Given the description of an element on the screen output the (x, y) to click on. 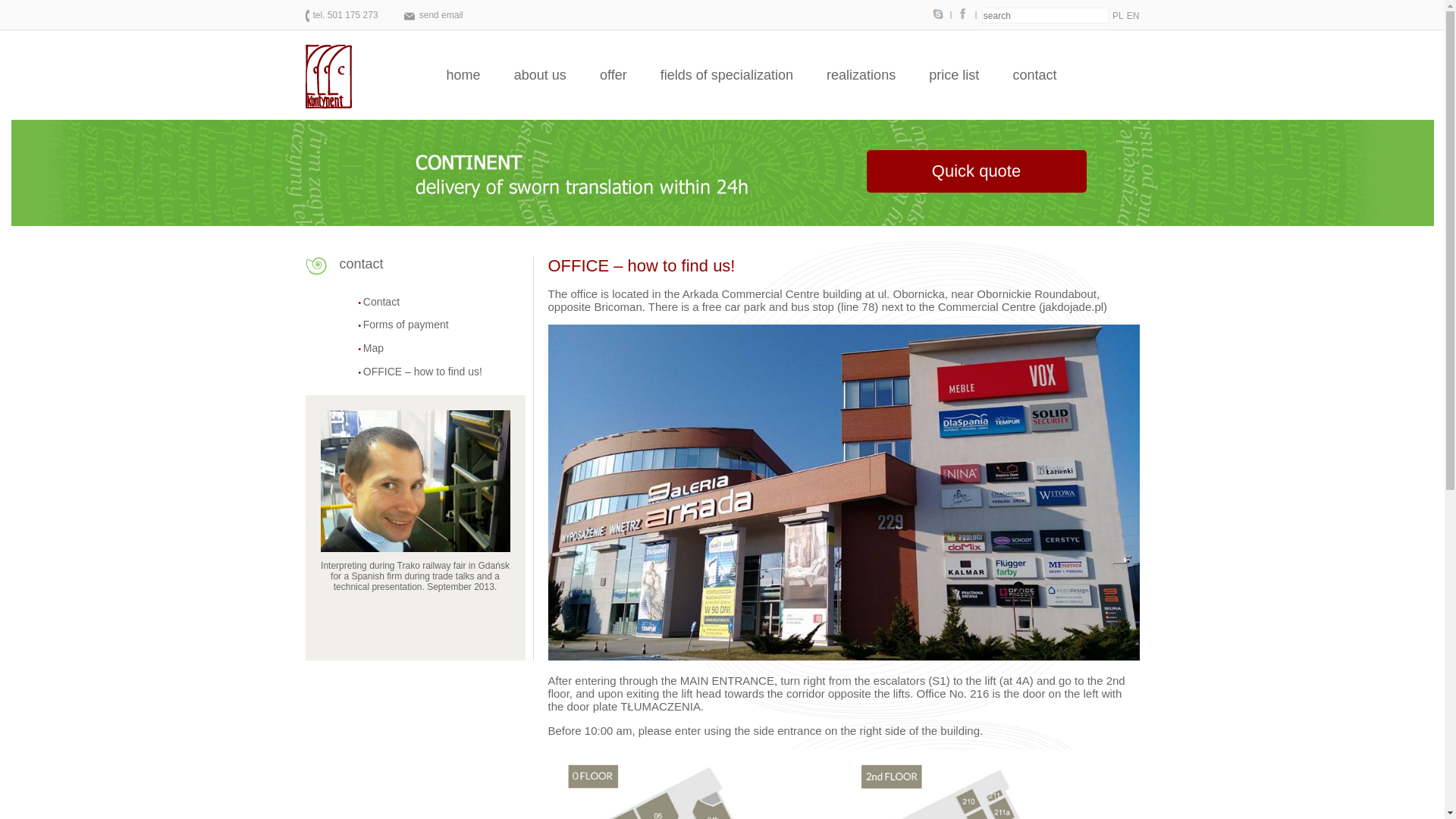
EN (1133, 15)
 realizations  (860, 76)
send email (433, 15)
Map (365, 347)
 home  (463, 76)
 offer  (612, 76)
PL (1118, 15)
Contact (373, 301)
 about us  (540, 76)
Forms of payment (397, 324)
 contact  (1035, 76)
 price list  (953, 76)
 fields of specialization  (726, 76)
